Given the description of an element on the screen output the (x, y) to click on. 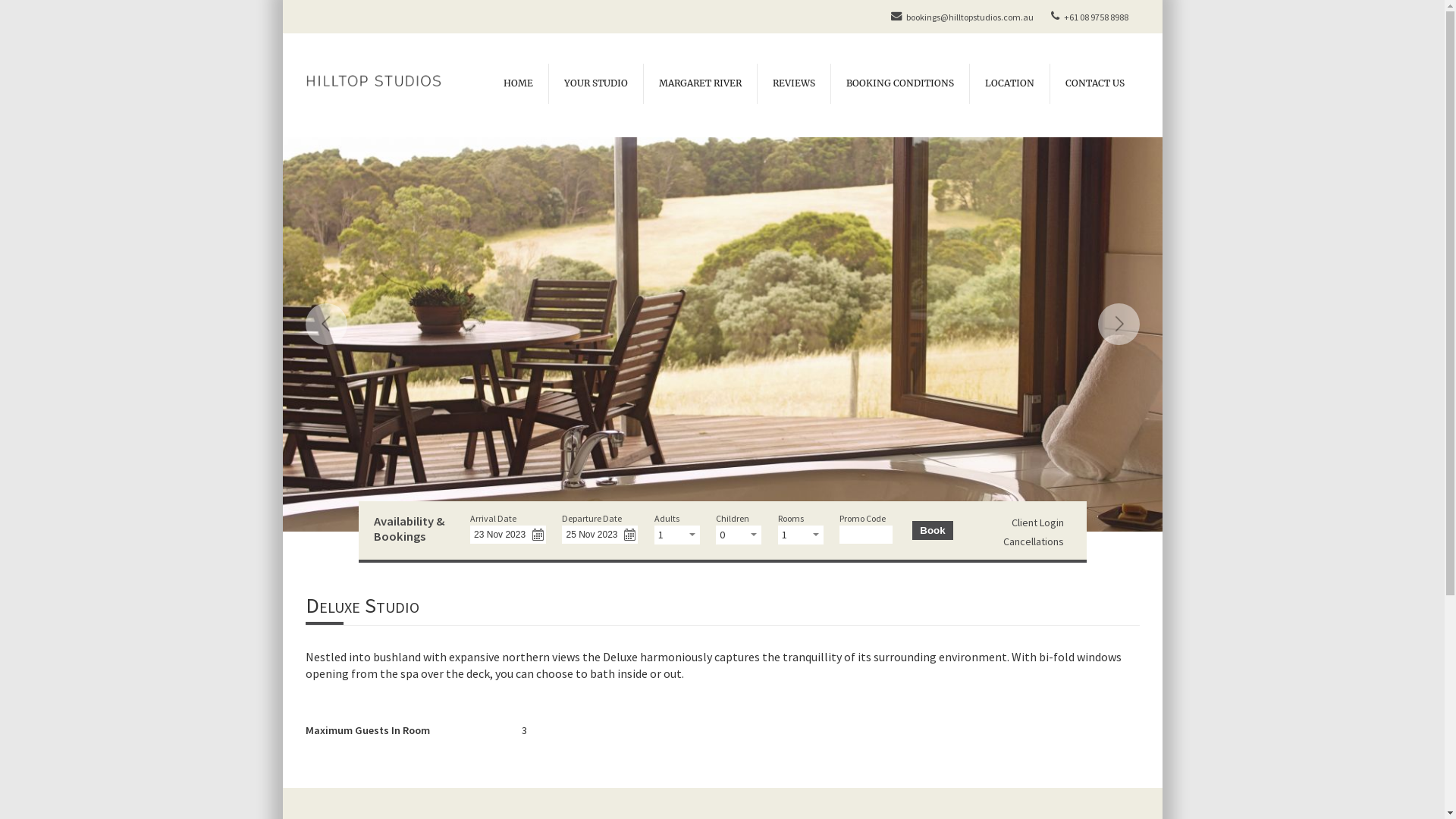
REVIEWS Element type: text (793, 83)
MARGARET RIVER Element type: text (699, 83)
Cancellations Element type: text (1033, 541)
bookings@hilltopstudios.com.au Element type: text (960, 16)
Book Element type: text (932, 529)
Client Login Element type: text (1037, 522)
+61 08 9758 8988 Element type: text (1086, 16)
HOME Element type: text (518, 83)
CONTACT US Element type: text (1094, 83)
LOCATION Element type: text (1009, 83)
YOUR STUDIO Element type: text (594, 83)
BOOKING CONDITIONS Element type: text (898, 83)
